Given the description of an element on the screen output the (x, y) to click on. 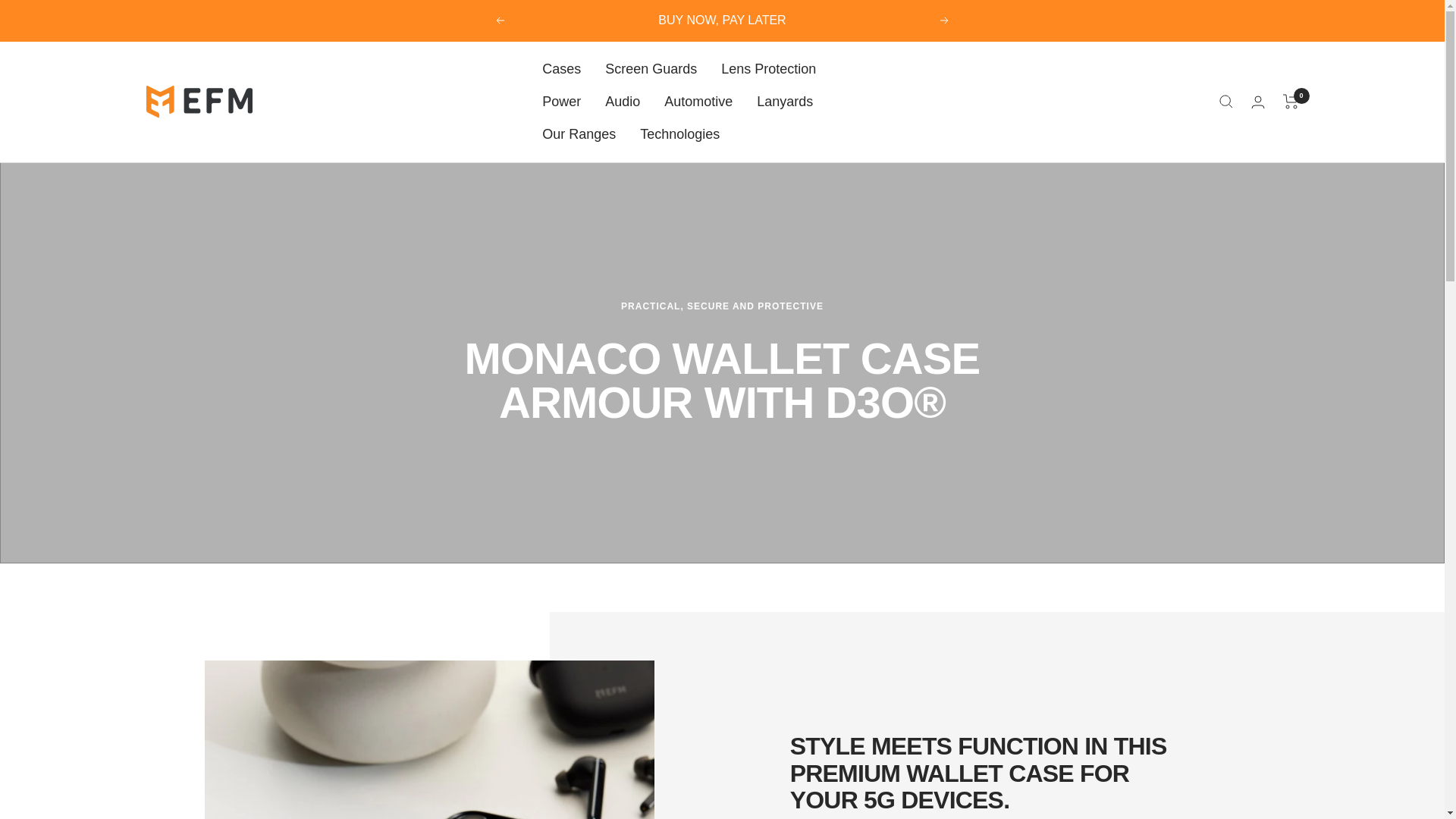
Lens Protection (767, 69)
Technologies (679, 134)
Automotive (697, 101)
EFM Device Gear (198, 101)
Next (944, 20)
Screen Guards (651, 69)
0 (1290, 101)
Previous (499, 20)
Lanyards (784, 101)
Audio (622, 101)
Cases (560, 69)
Our Ranges (578, 134)
Power (560, 101)
